Given the description of an element on the screen output the (x, y) to click on. 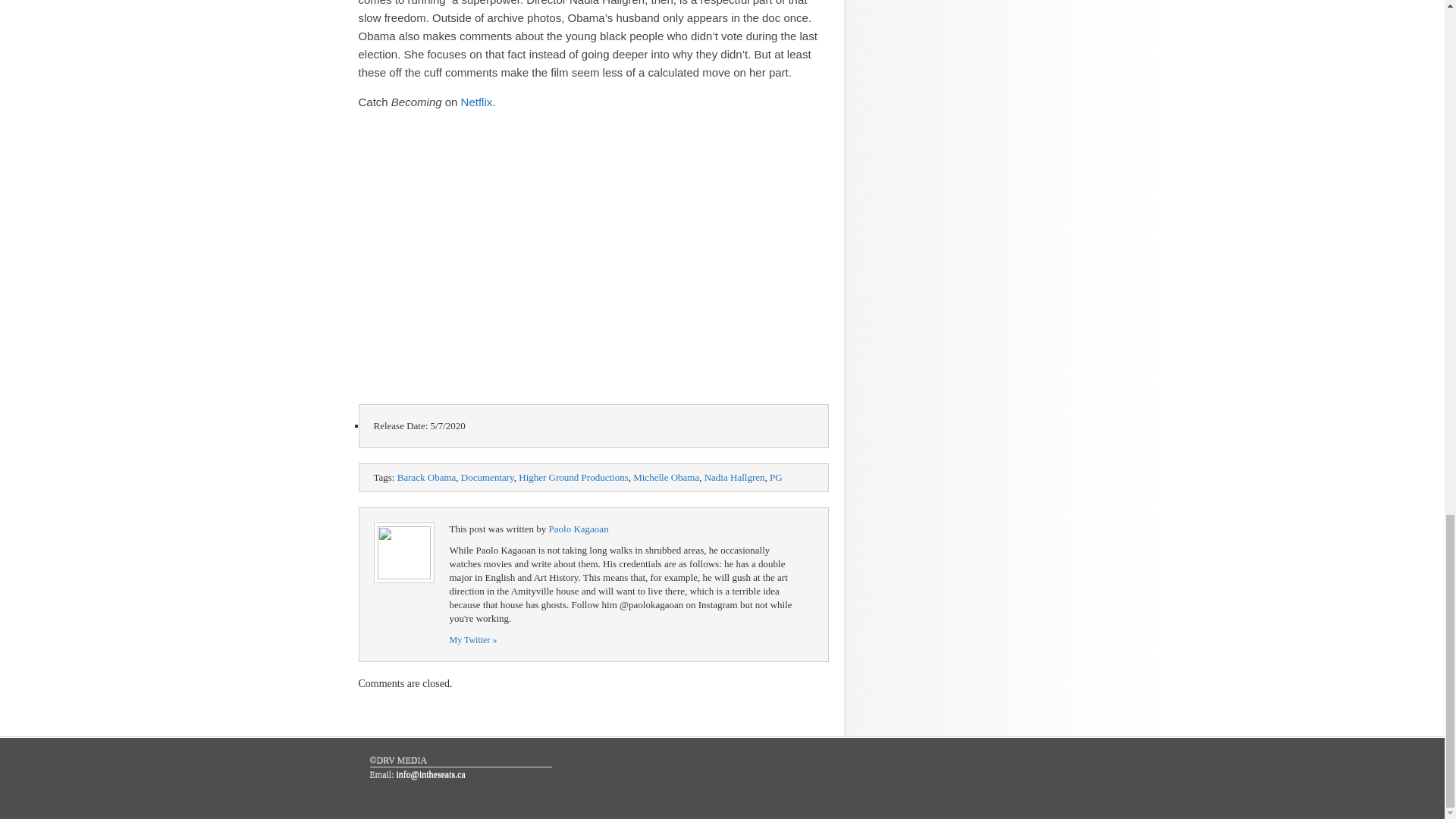
Higher Ground Productions (572, 477)
Paolo Kagaoan (472, 640)
Posts by Paolo Kagaoan (578, 528)
Netflix (477, 101)
Documentary (487, 477)
Michelle Obama (665, 477)
Nadia Hallgren (734, 477)
Barack Obama (427, 477)
Paolo Kagaoan (578, 528)
PG (776, 477)
